Given the description of an element on the screen output the (x, y) to click on. 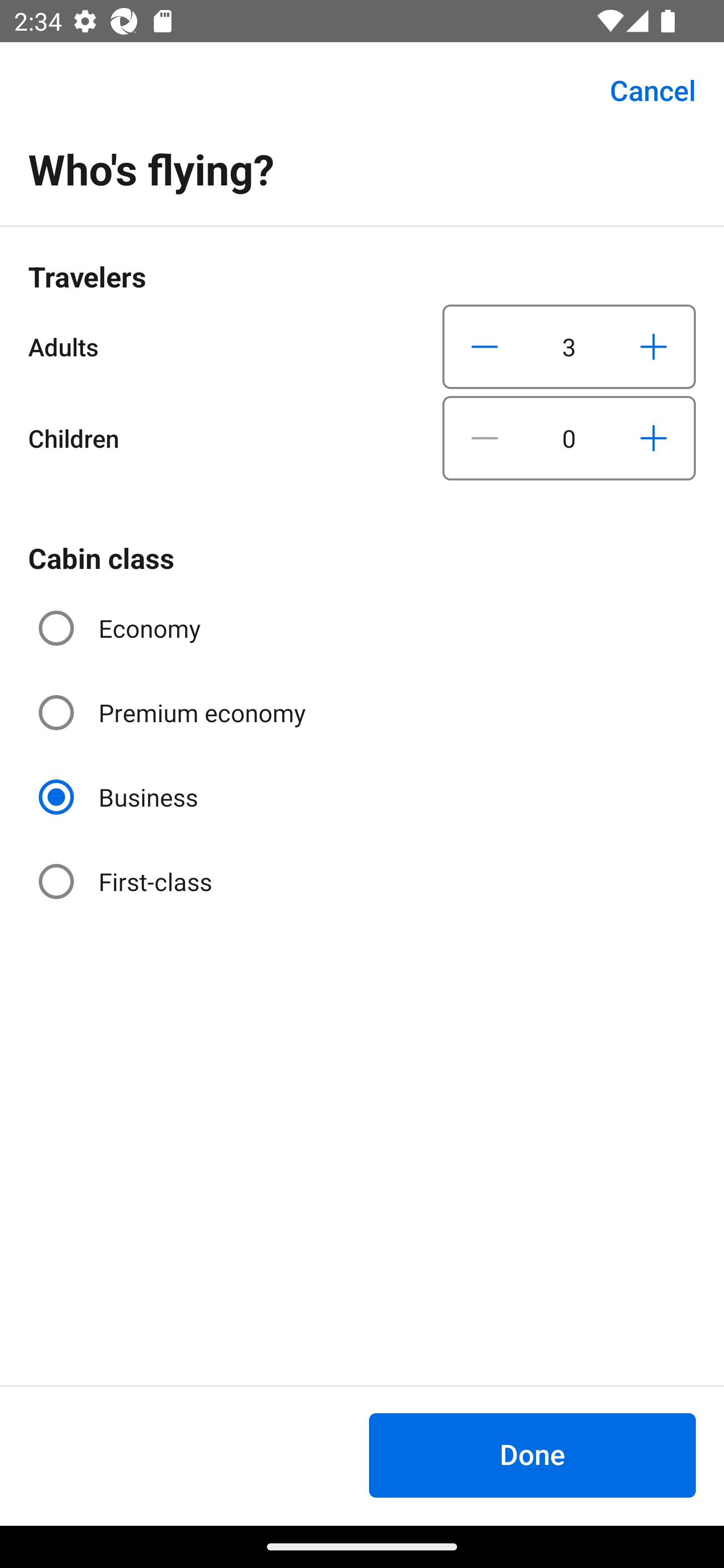
Cancel (641, 90)
Decrease (484, 346)
Increase (653, 346)
Decrease (484, 437)
Increase (653, 437)
Economy (121, 628)
Premium economy (174, 712)
Business (120, 796)
First-class (126, 880)
Done (532, 1454)
